Given the description of an element on the screen output the (x, y) to click on. 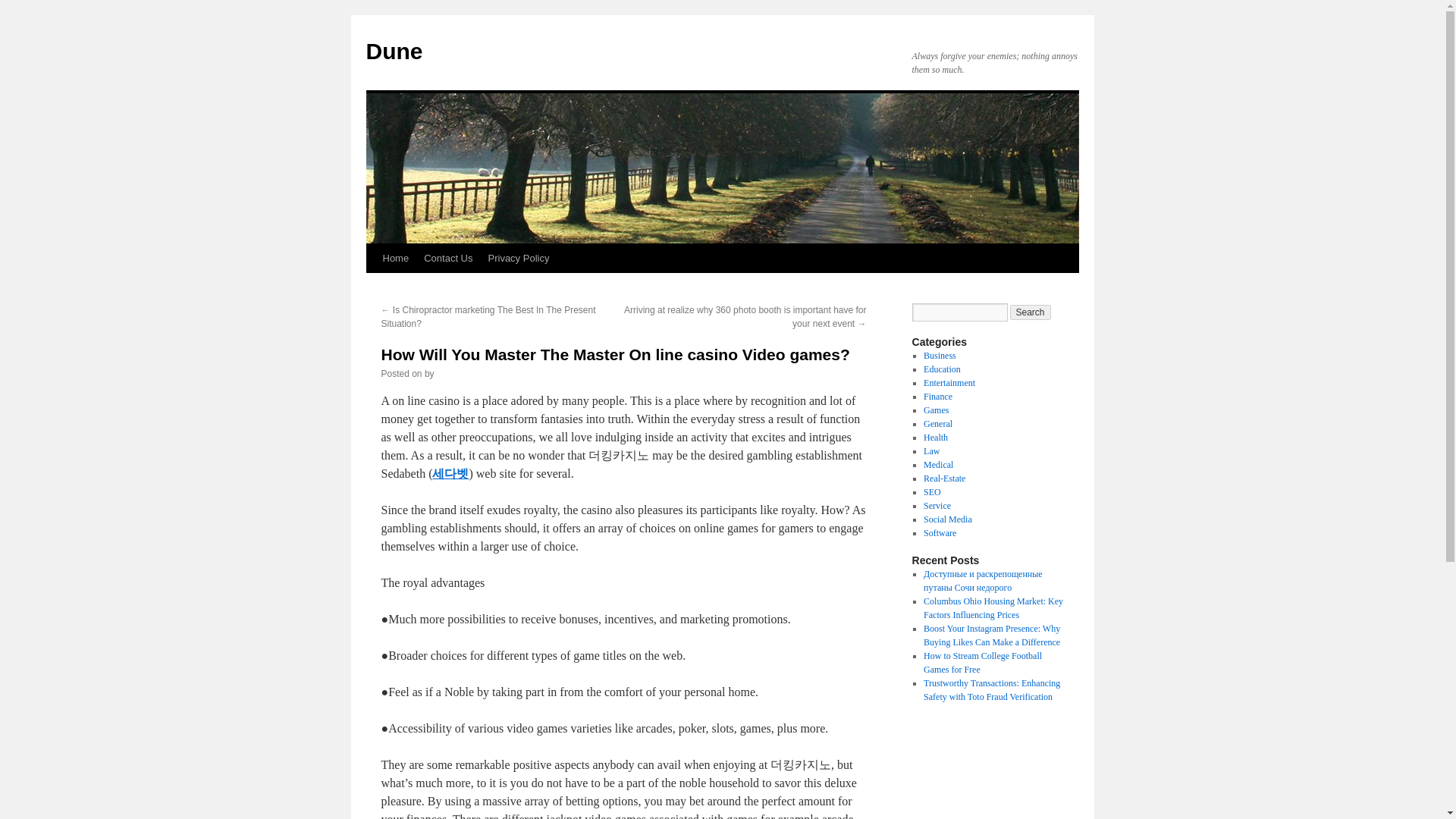
Contact Us (448, 258)
Medical (938, 464)
Privacy Policy (518, 258)
Home (395, 258)
Social Media (947, 519)
Real-Estate (944, 478)
Finance (937, 396)
Law (931, 450)
SEO (931, 491)
Software (939, 532)
Columbus Ohio Housing Market: Key Factors Influencing Prices (992, 607)
Health (935, 437)
Education (941, 368)
Games (936, 409)
